Given the description of an element on the screen output the (x, y) to click on. 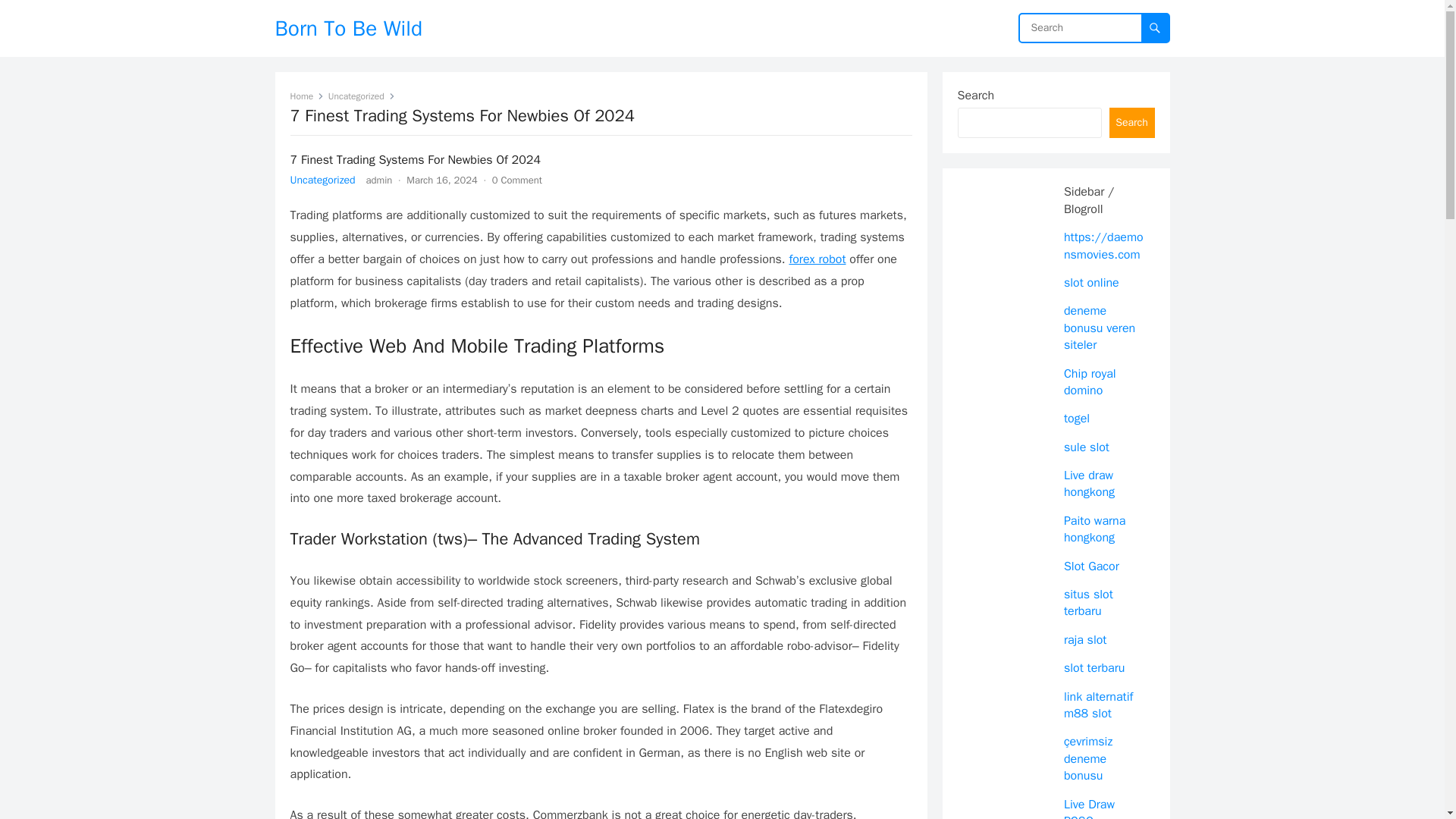
Uncategorized (322, 179)
Born To Be Wild (348, 28)
Home (306, 96)
Posts by admin (379, 179)
forex robot (817, 258)
admin (379, 179)
Uncategorized (361, 96)
0 Comment (516, 179)
